Given the description of an element on the screen output the (x, y) to click on. 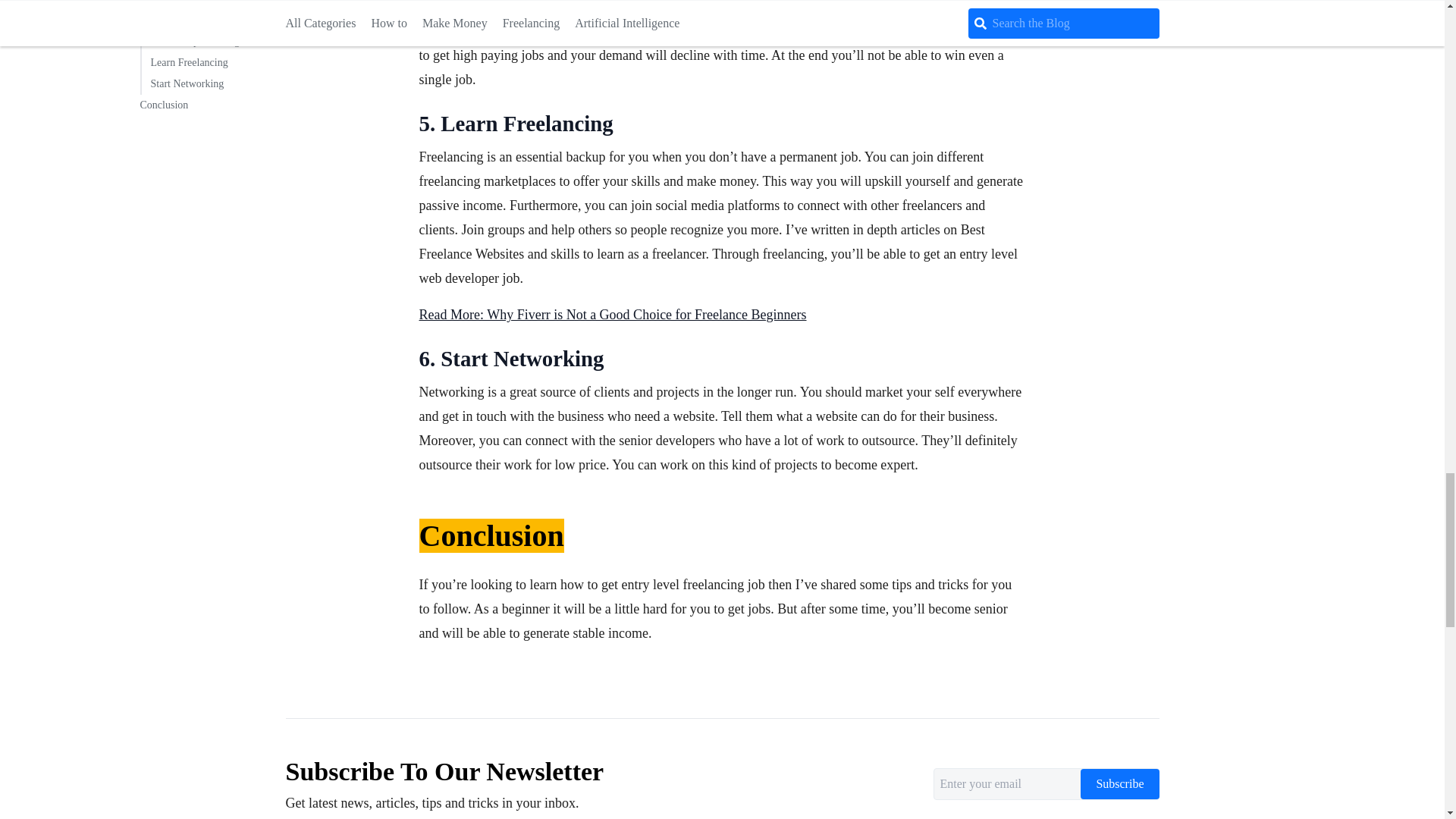
Subscribe (1119, 784)
